Given the description of an element on the screen output the (x, y) to click on. 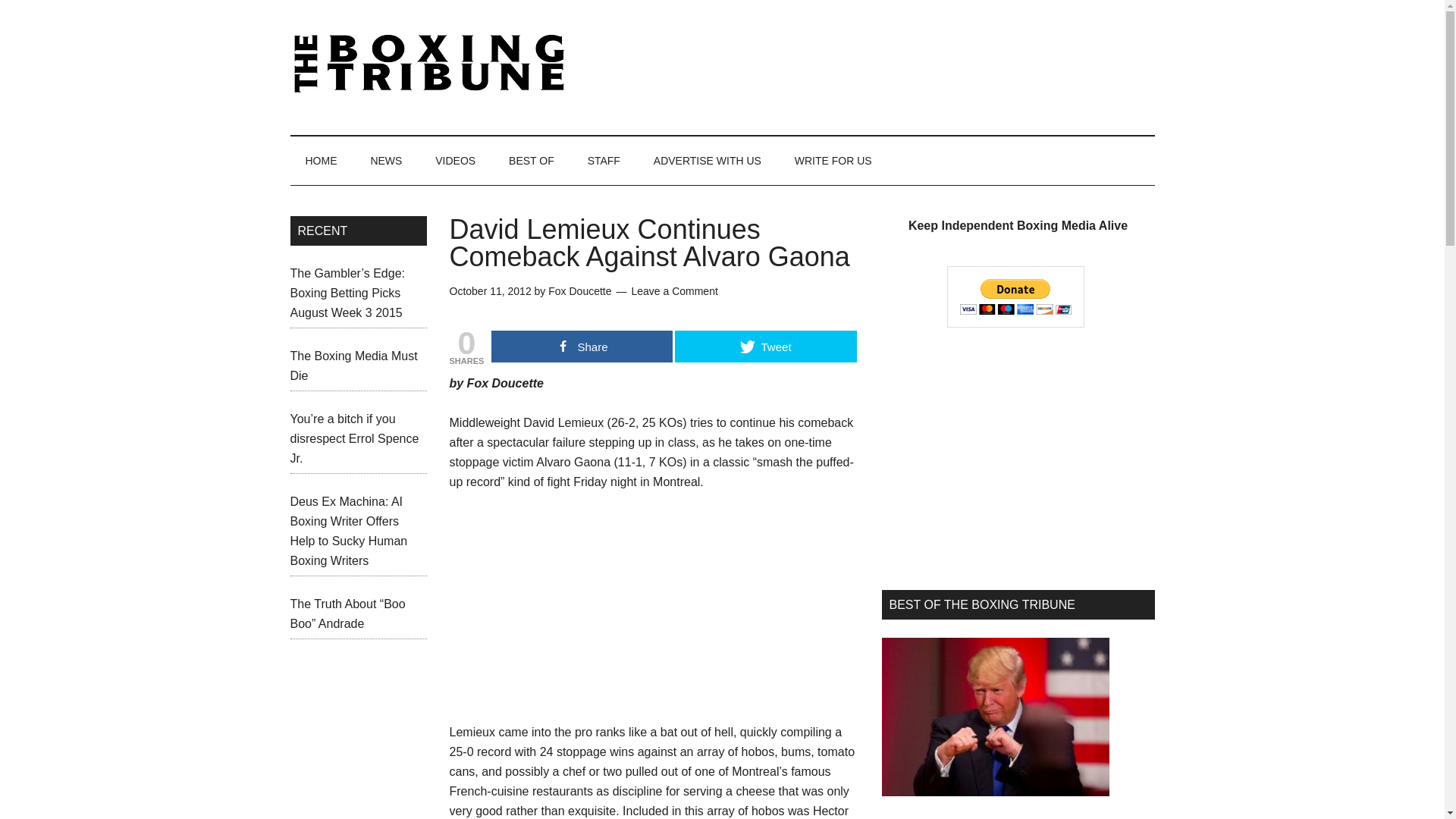
HOME (320, 160)
Fox Doucette (579, 291)
NEWS (385, 160)
Tweet (765, 346)
Advertisement (562, 606)
Leave a Comment (673, 291)
The Boxing Tribune (433, 64)
VIDEOS (455, 160)
STAFF (603, 160)
Advertisement (1017, 458)
ADVERTISE WITH US (707, 160)
PayPal - The safer, easier way to pay online! (1015, 296)
Advertisement (878, 64)
WRITE FOR US (832, 160)
